Given the description of an element on the screen output the (x, y) to click on. 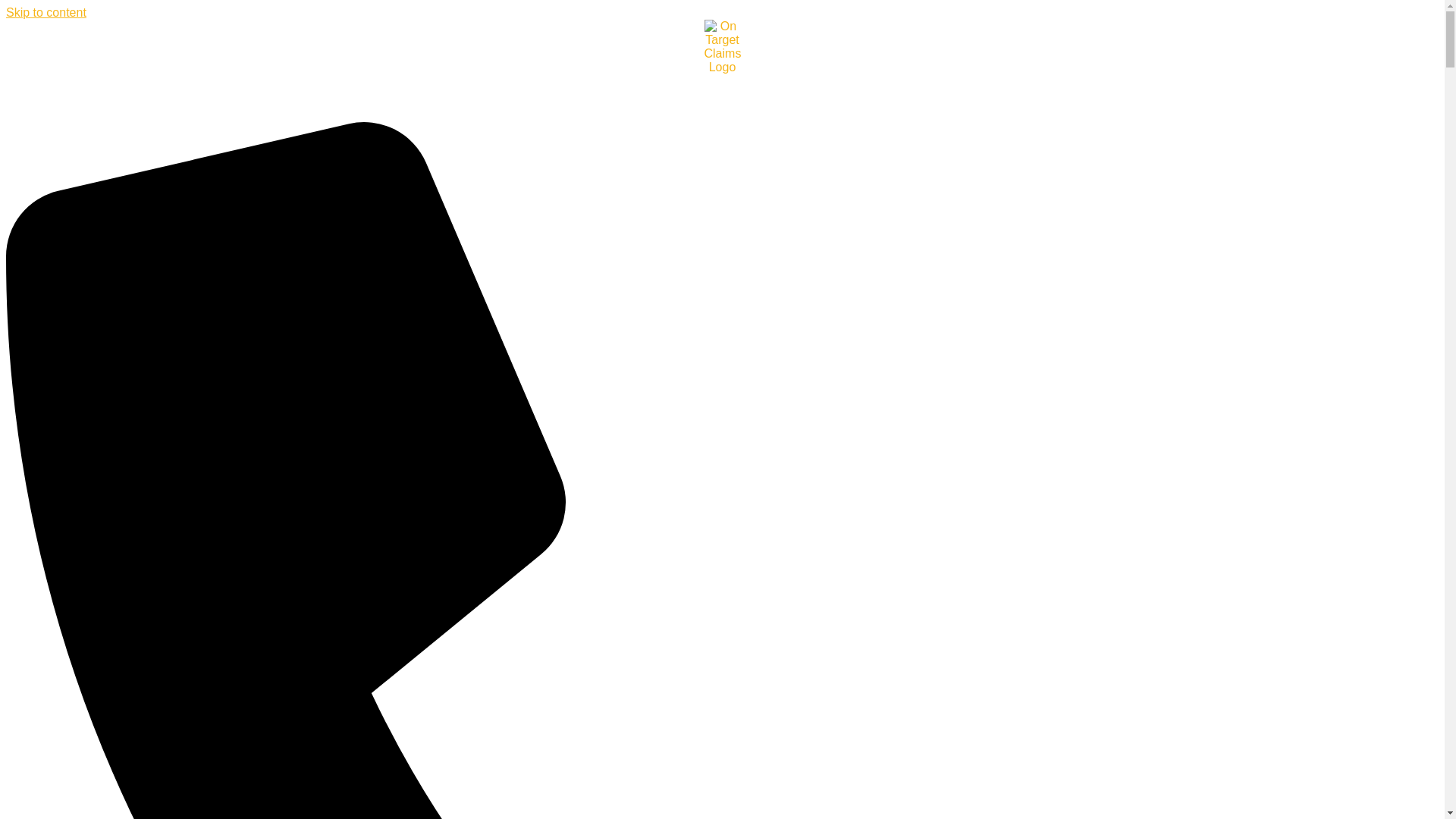
Skip to content (45, 11)
